Given the description of an element on the screen output the (x, y) to click on. 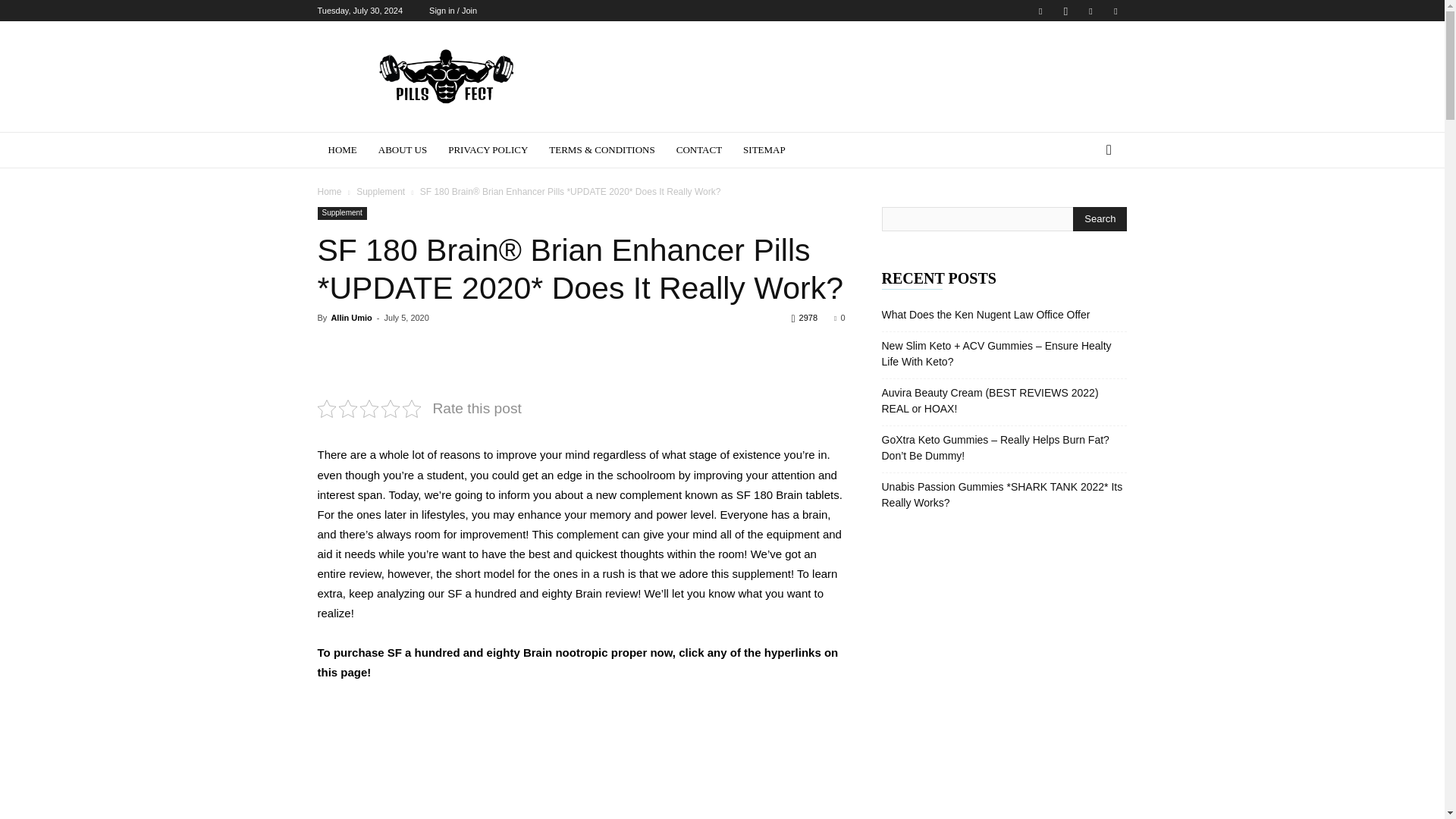
Search (1099, 218)
